Given the description of an element on the screen output the (x, y) to click on. 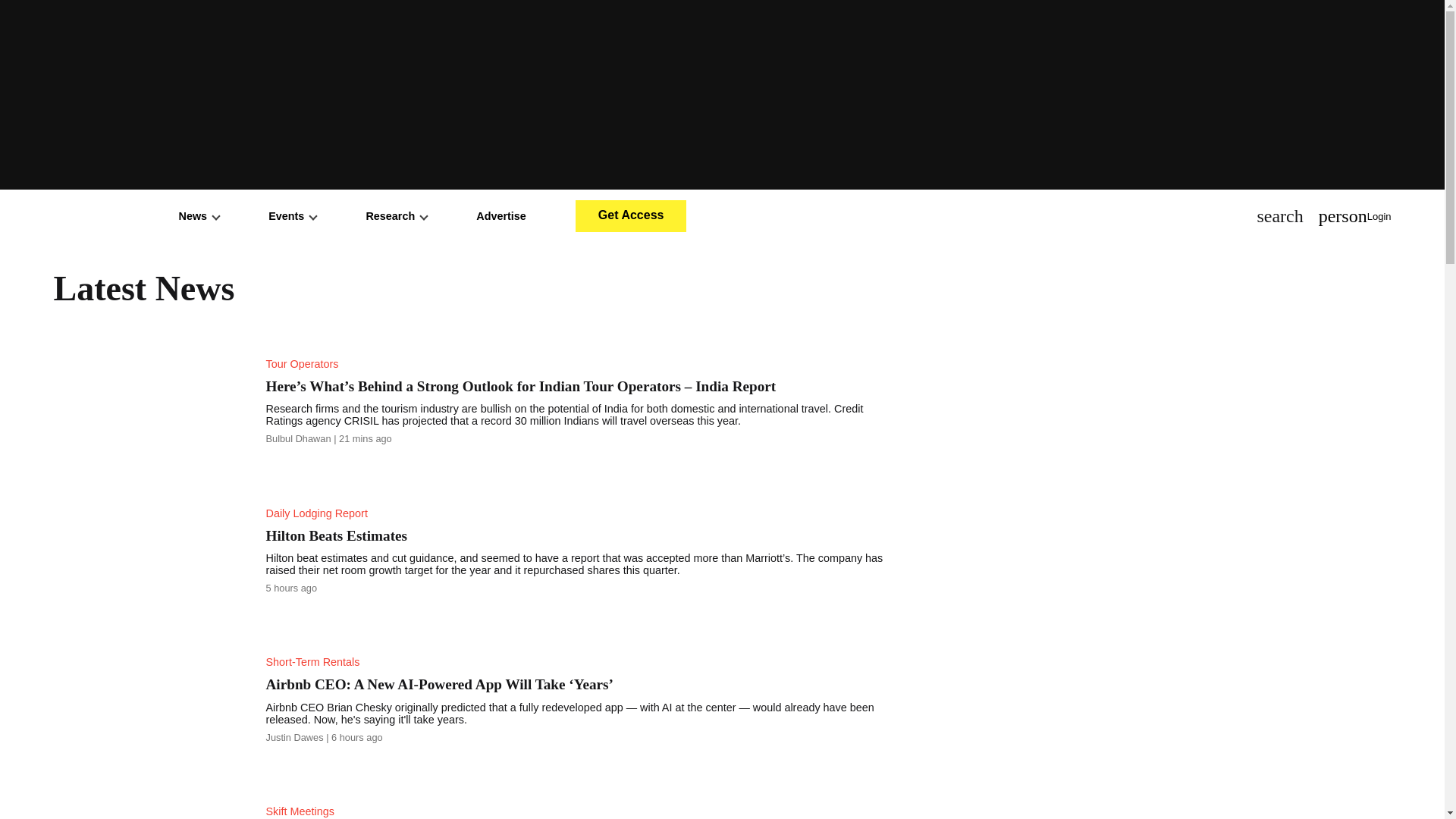
Events (291, 215)
Research (395, 215)
